Given the description of an element on the screen output the (x, y) to click on. 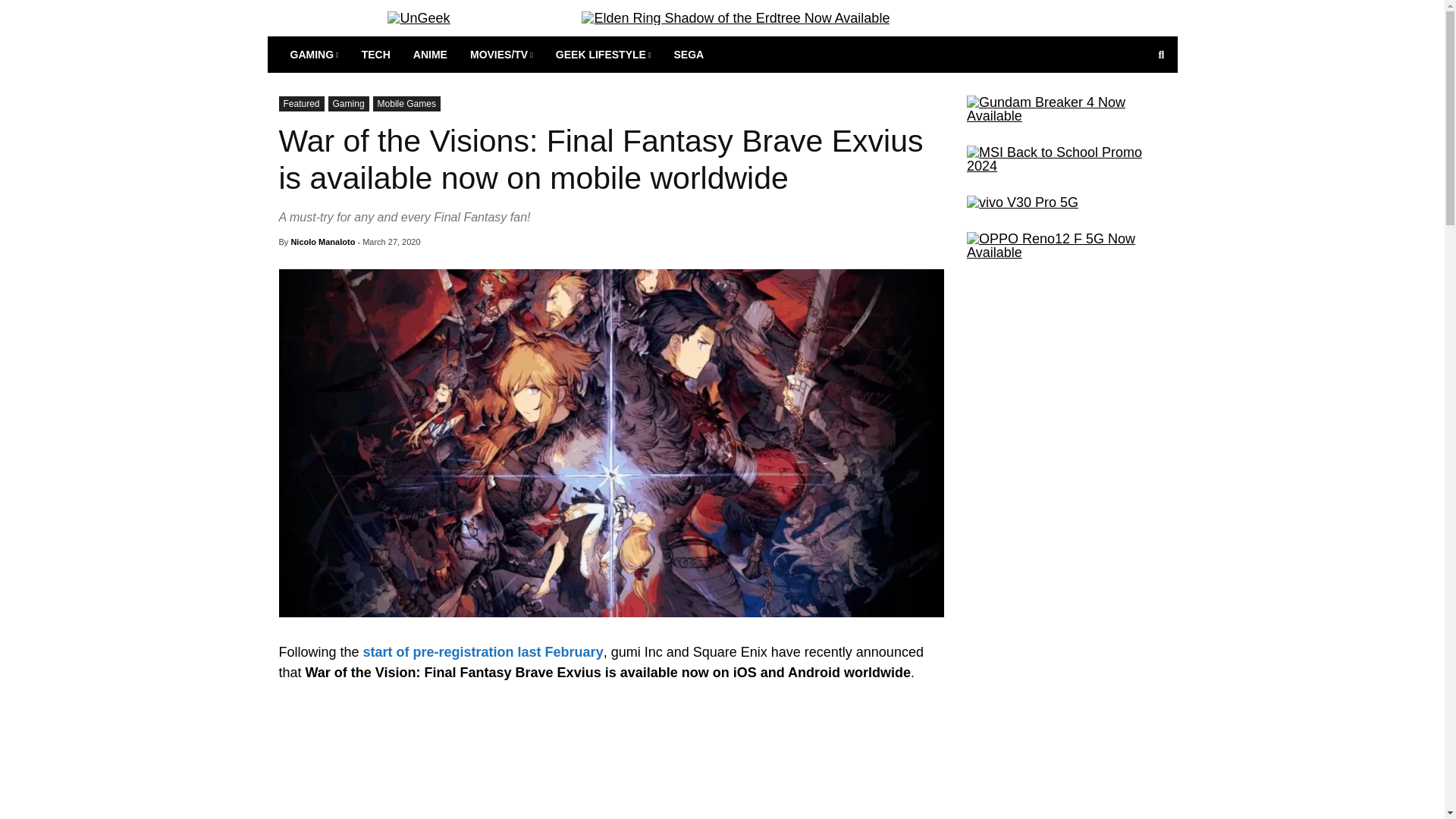
UnGeek (419, 18)
Mobile Games (406, 103)
ANIME (429, 54)
GAMING (314, 54)
Nicolo Manaloto (322, 241)
SEGA (689, 54)
Featured (301, 103)
start of pre-registration last February (483, 652)
UnGeek (418, 18)
Gaming (349, 103)
